Given the description of an element on the screen output the (x, y) to click on. 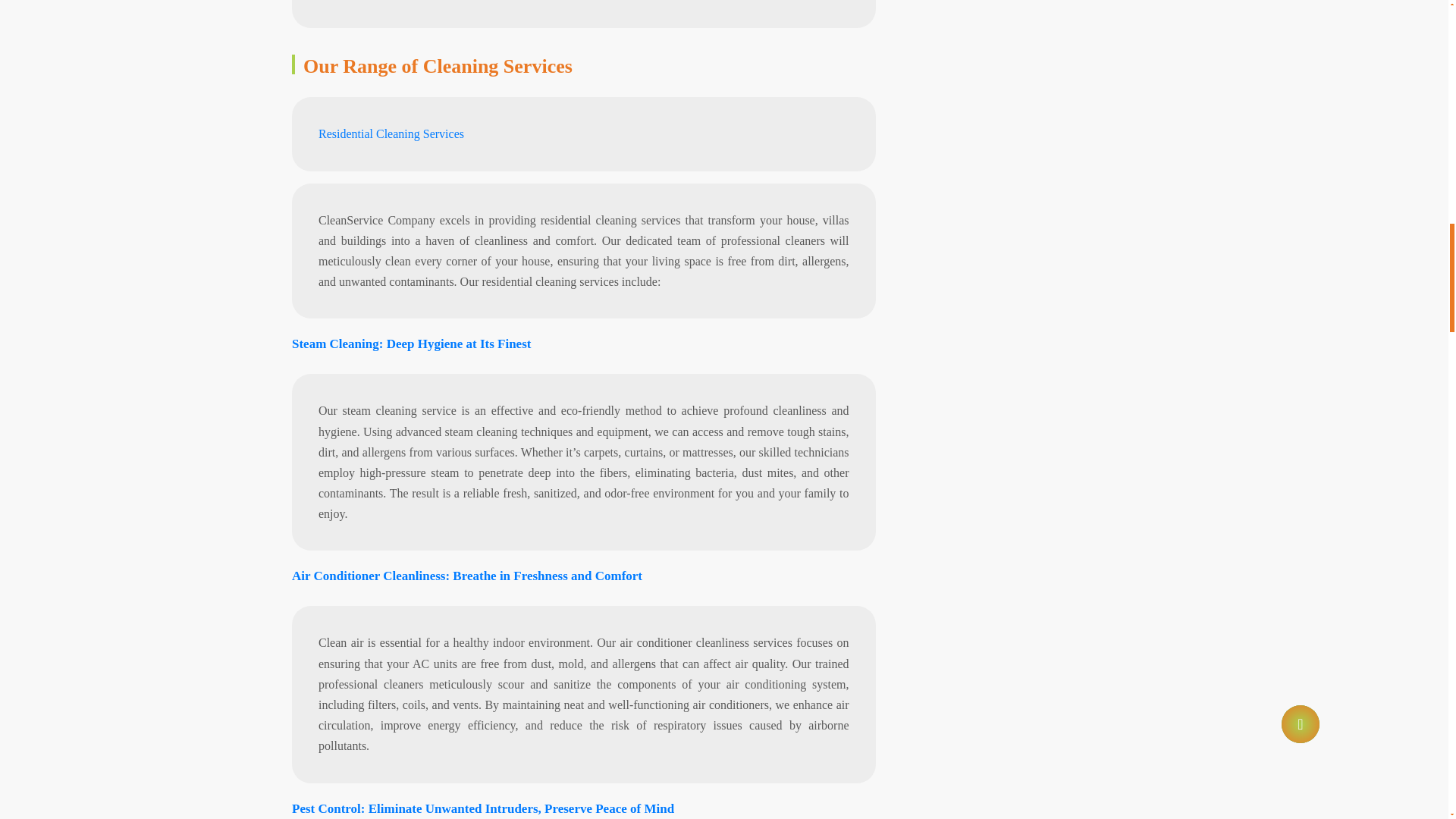
Residential Cleaning Services (391, 38)
Steam Cleaning: Deep Hygiene at Its Finest (411, 247)
